Given the description of an element on the screen output the (x, y) to click on. 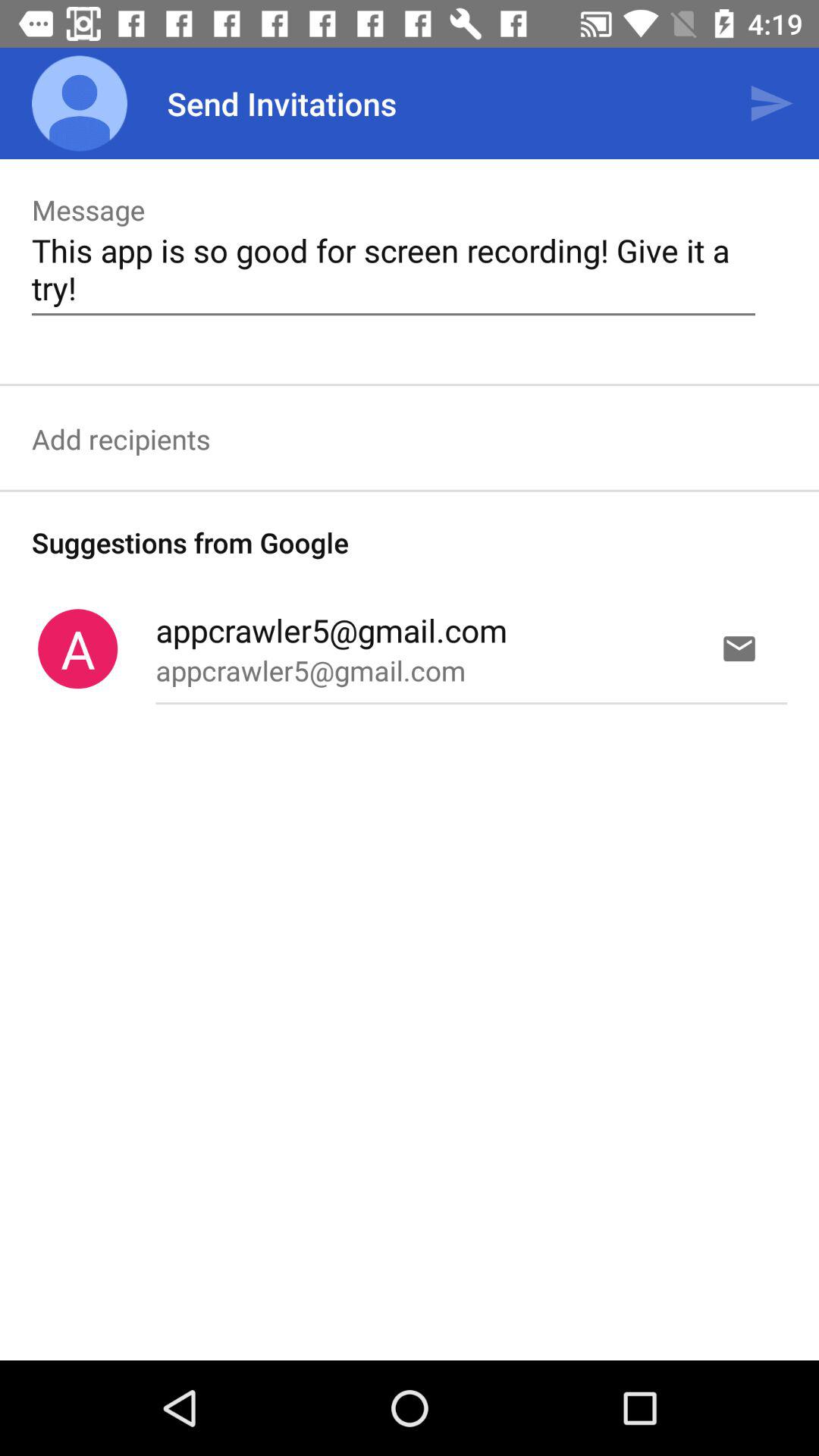
select the icon below the message icon (393, 268)
